Given the description of an element on the screen output the (x, y) to click on. 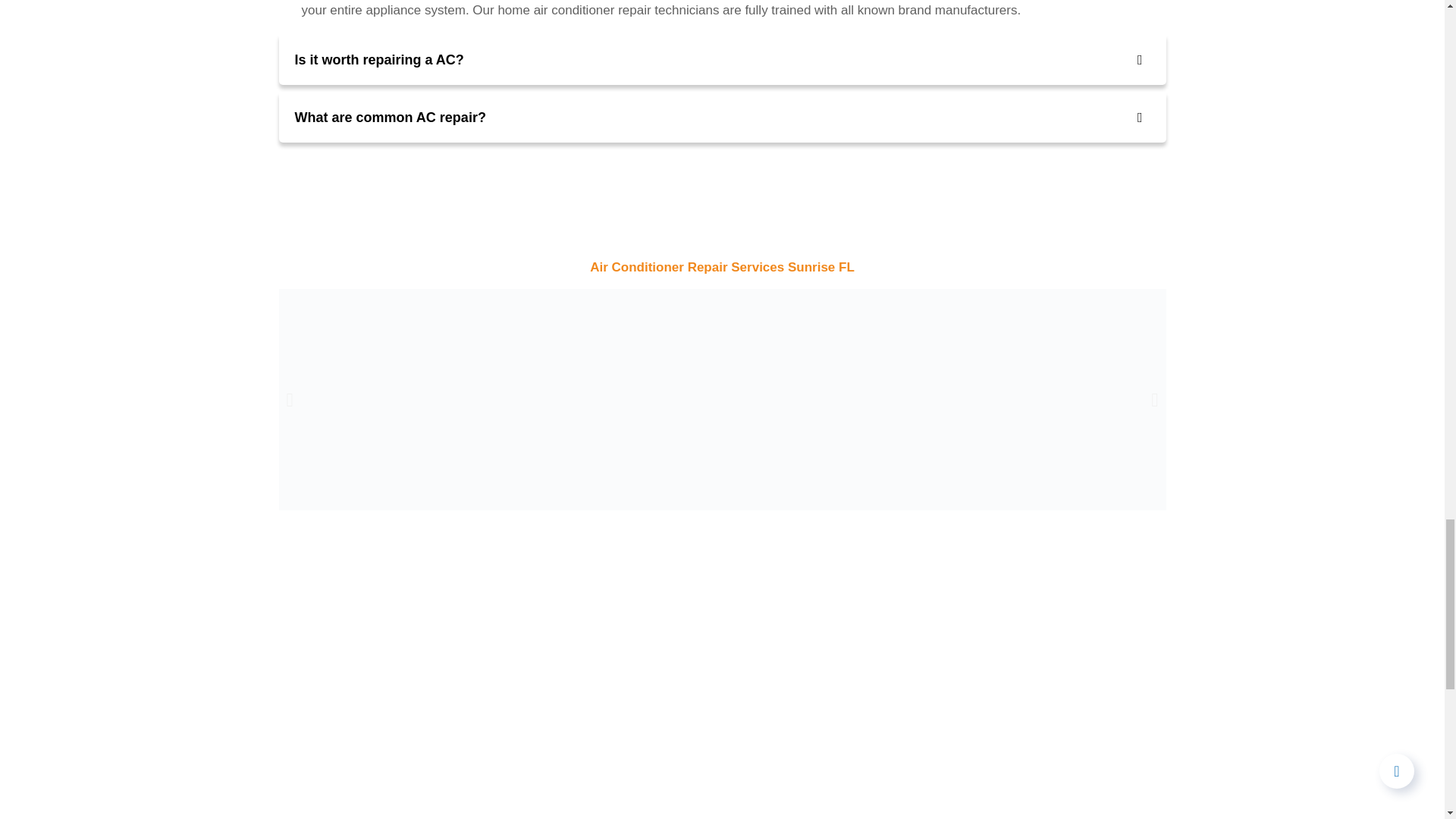
Is it worth repairing a AC? (722, 60)
What are common AC repair? (722, 117)
